Given the description of an element on the screen output the (x, y) to click on. 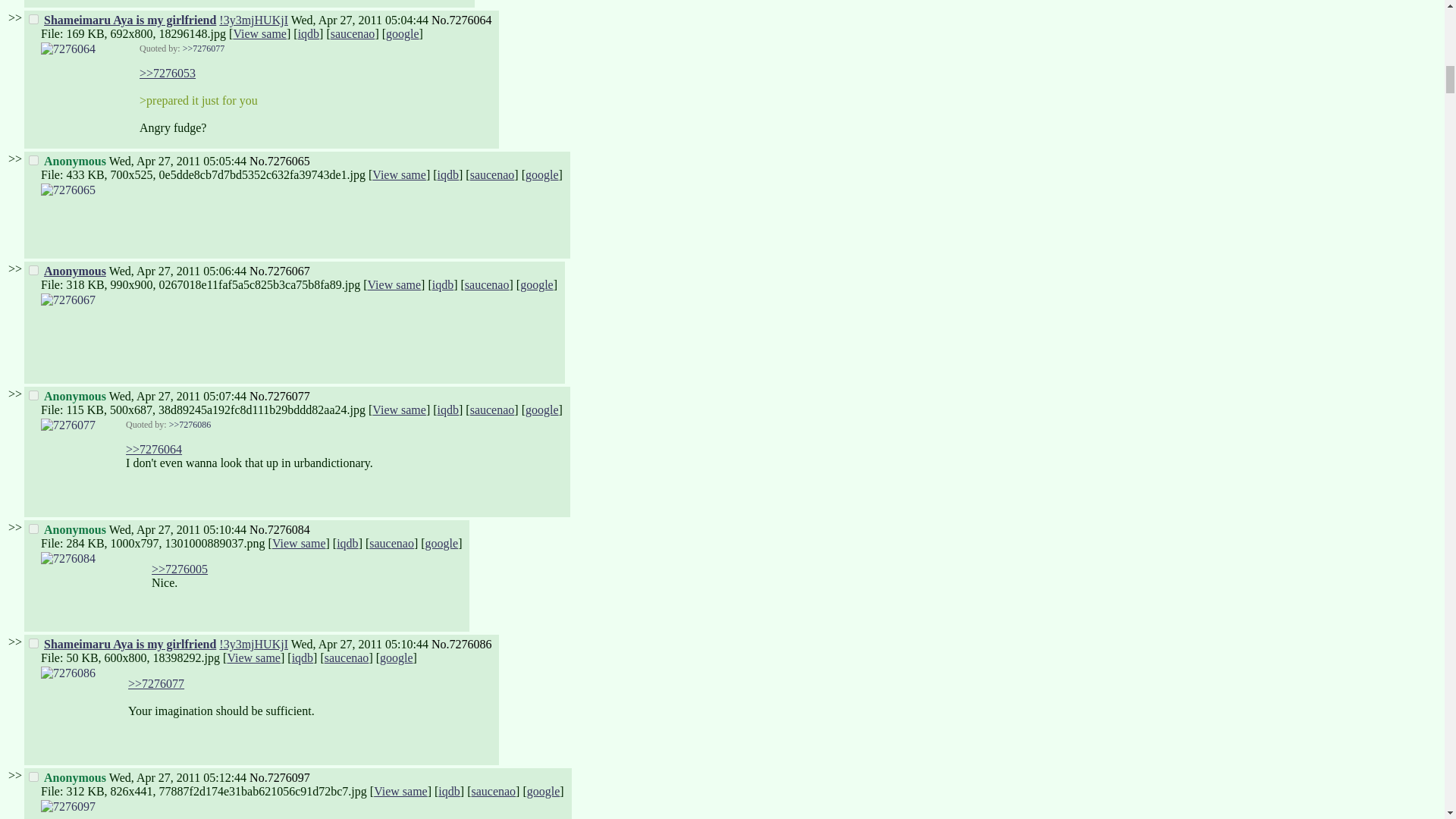
1303851884000 (359, 19)
7276064,0 (34, 19)
1303852004000 (177, 270)
1303851944000 (177, 160)
7276065,0 (34, 160)
